Given the description of an element on the screen output the (x, y) to click on. 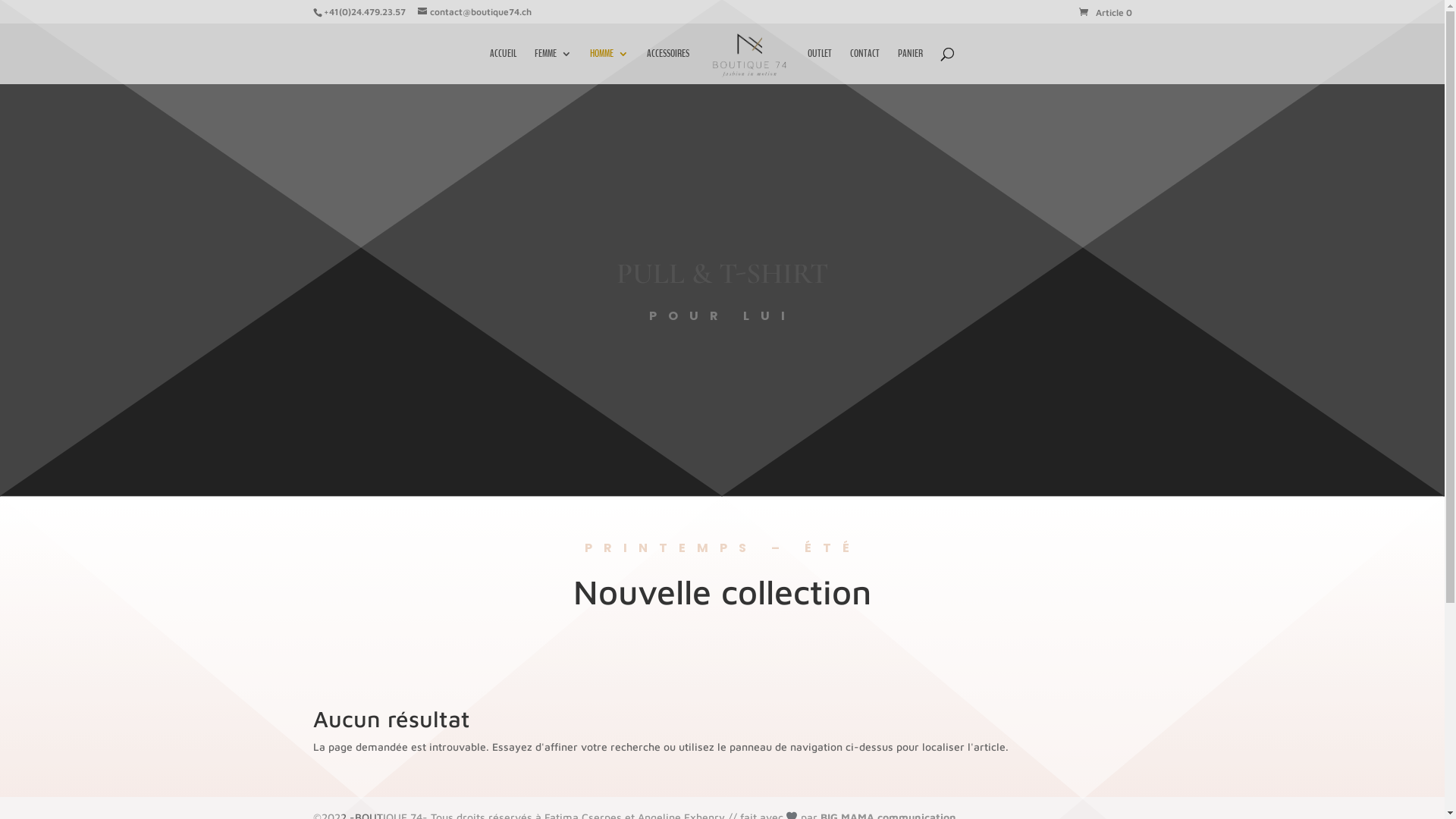
OUTLET Element type: text (819, 66)
ACCESSOIRES Element type: text (667, 66)
PANIER Element type: text (909, 66)
HOMME Element type: text (608, 66)
FEMME Element type: text (552, 66)
contact@boutique74.ch Element type: text (473, 11)
ACCUEIL Element type: text (502, 66)
CONTACT Element type: text (864, 66)
Article 0 Element type: text (1104, 11)
